Given the description of an element on the screen output the (x, y) to click on. 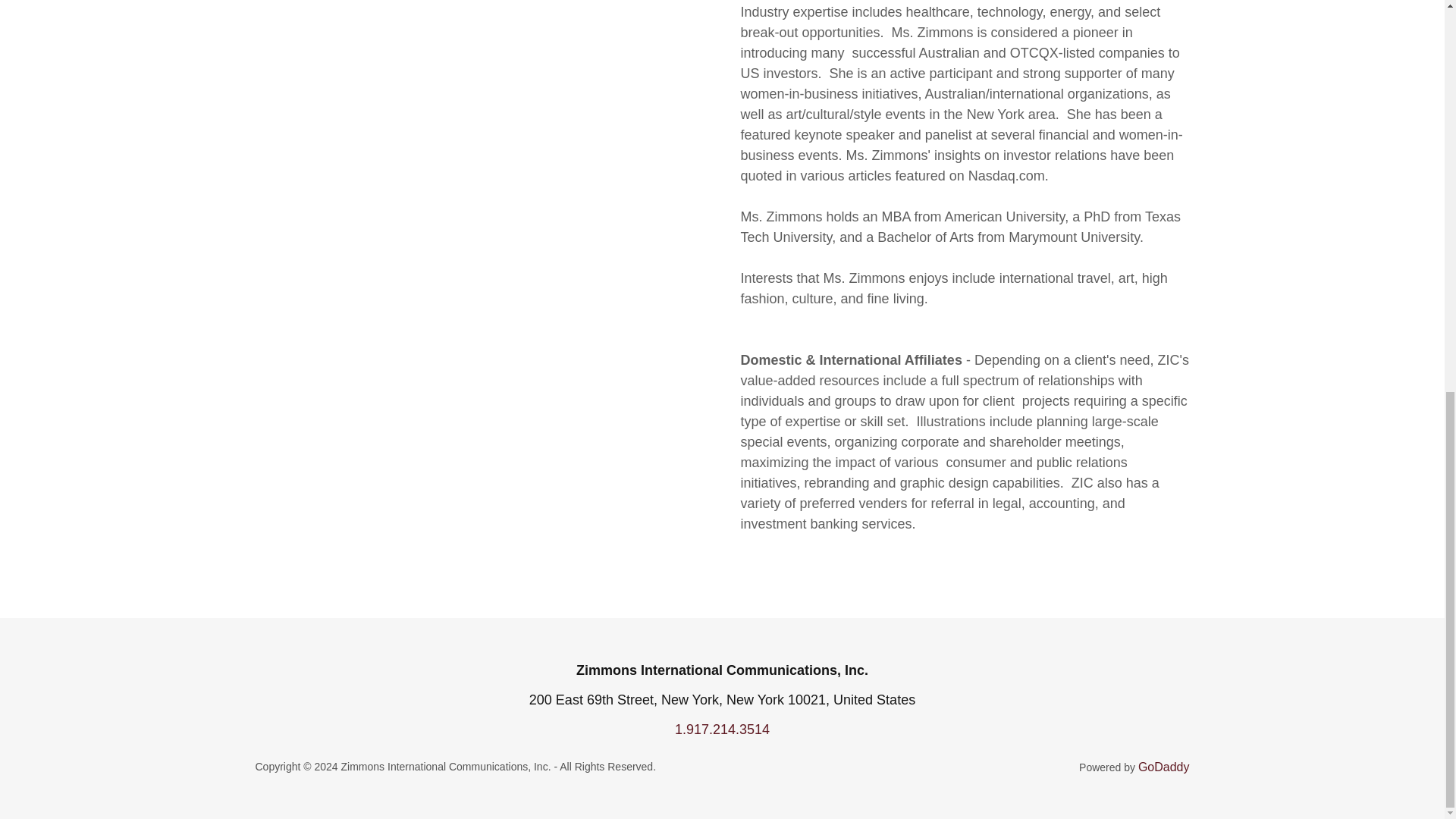
ACCEPT (1274, 391)
1.917.214.3514 (722, 729)
GoDaddy (1163, 766)
